Given the description of an element on the screen output the (x, y) to click on. 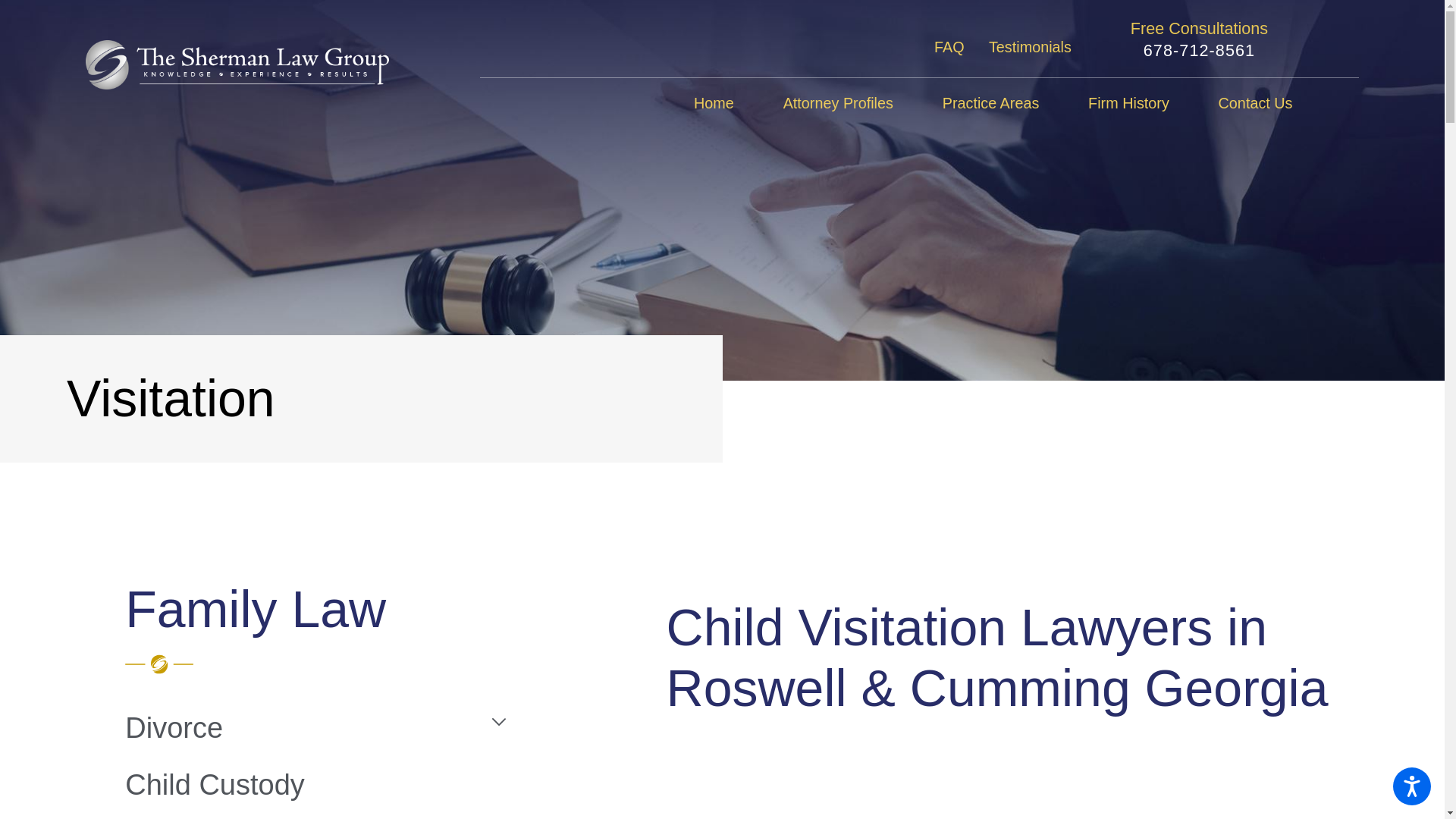
678-712-8561 (1199, 50)
Family Law (321, 609)
Practice Areas (990, 103)
Attorney Profiles (838, 103)
Testimonials (1029, 46)
Firm History (1128, 103)
FAQ (948, 46)
Child Custody (321, 784)
The Sherman Law Group (236, 65)
Contact Us (1255, 103)
